Given the description of an element on the screen output the (x, y) to click on. 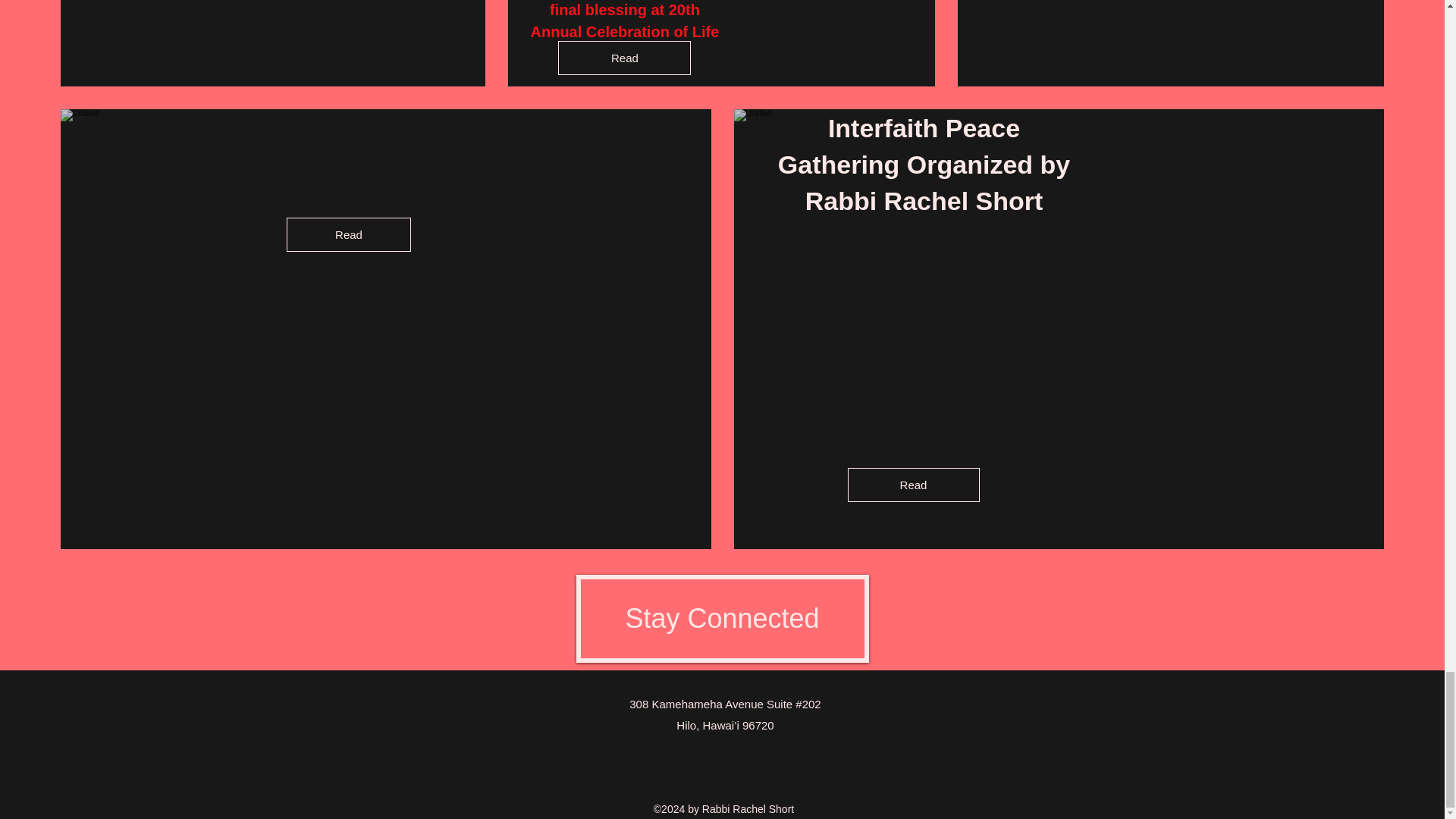
Read (623, 57)
Read (348, 234)
Read (913, 484)
Stay Connected (722, 618)
